Given the description of an element on the screen output the (x, y) to click on. 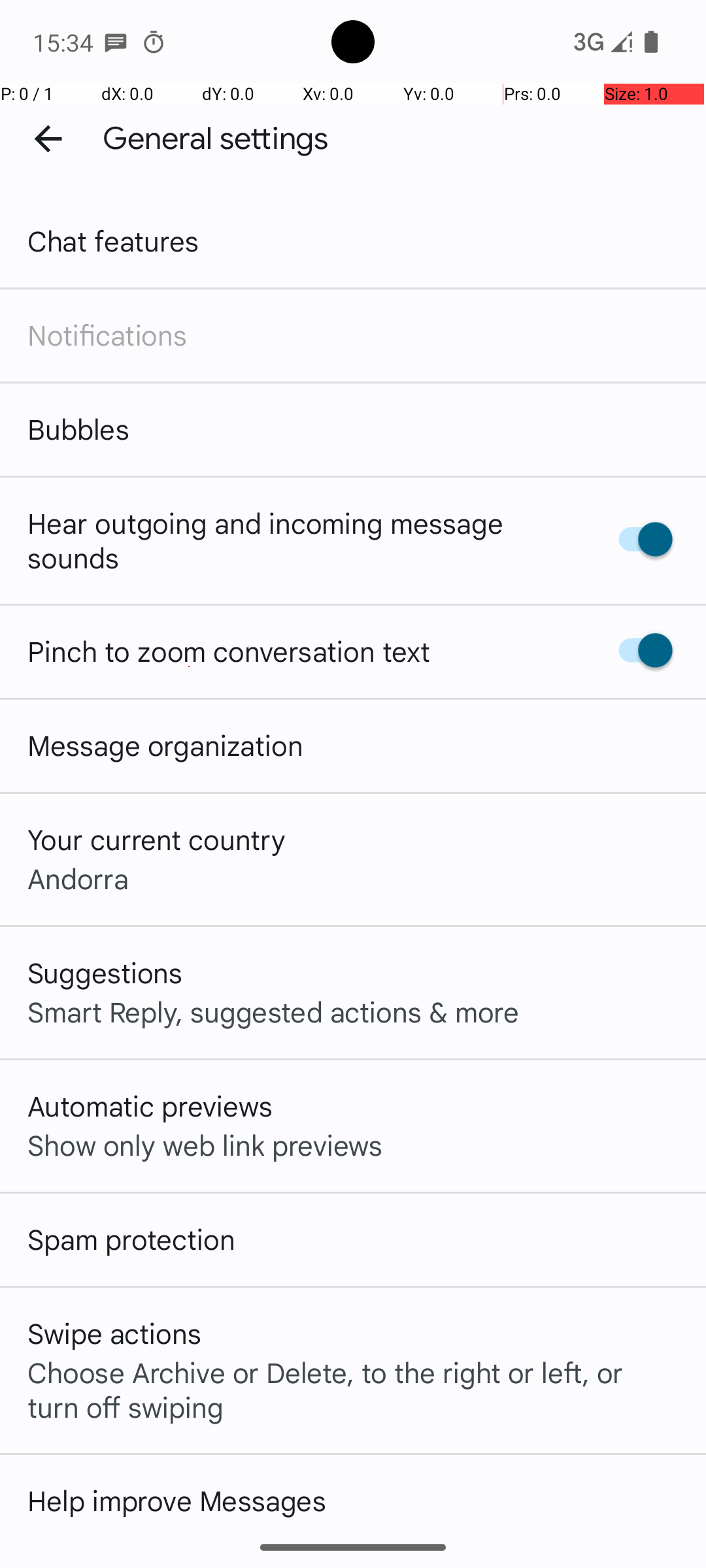
General settings Element type: android.widget.TextView (215, 138)
Chat features Element type: android.widget.TextView (113, 240)
Hear outgoing and incoming message sounds Element type: android.widget.TextView (299, 539)
Pinch to zoom conversation text Element type: android.widget.TextView (228, 650)
Message organization Element type: android.widget.TextView (165, 744)
Your current country Element type: android.widget.TextView (156, 838)
Andorra Element type: android.widget.TextView (77, 877)
Smart Reply, suggested actions & more Element type: android.widget.TextView (273, 1010)
Automatic previews Element type: android.widget.TextView (149, 1105)
Show only web link previews Element type: android.widget.TextView (205, 1144)
Spam protection Element type: android.widget.TextView (131, 1238)
Swipe actions Element type: android.widget.TextView (114, 1332)
Choose Archive or Delete, to the right or left, or turn off swiping Element type: android.widget.TextView (352, 1388)
Help improve Messages Element type: android.widget.TextView (176, 1499)
